Given the description of an element on the screen output the (x, y) to click on. 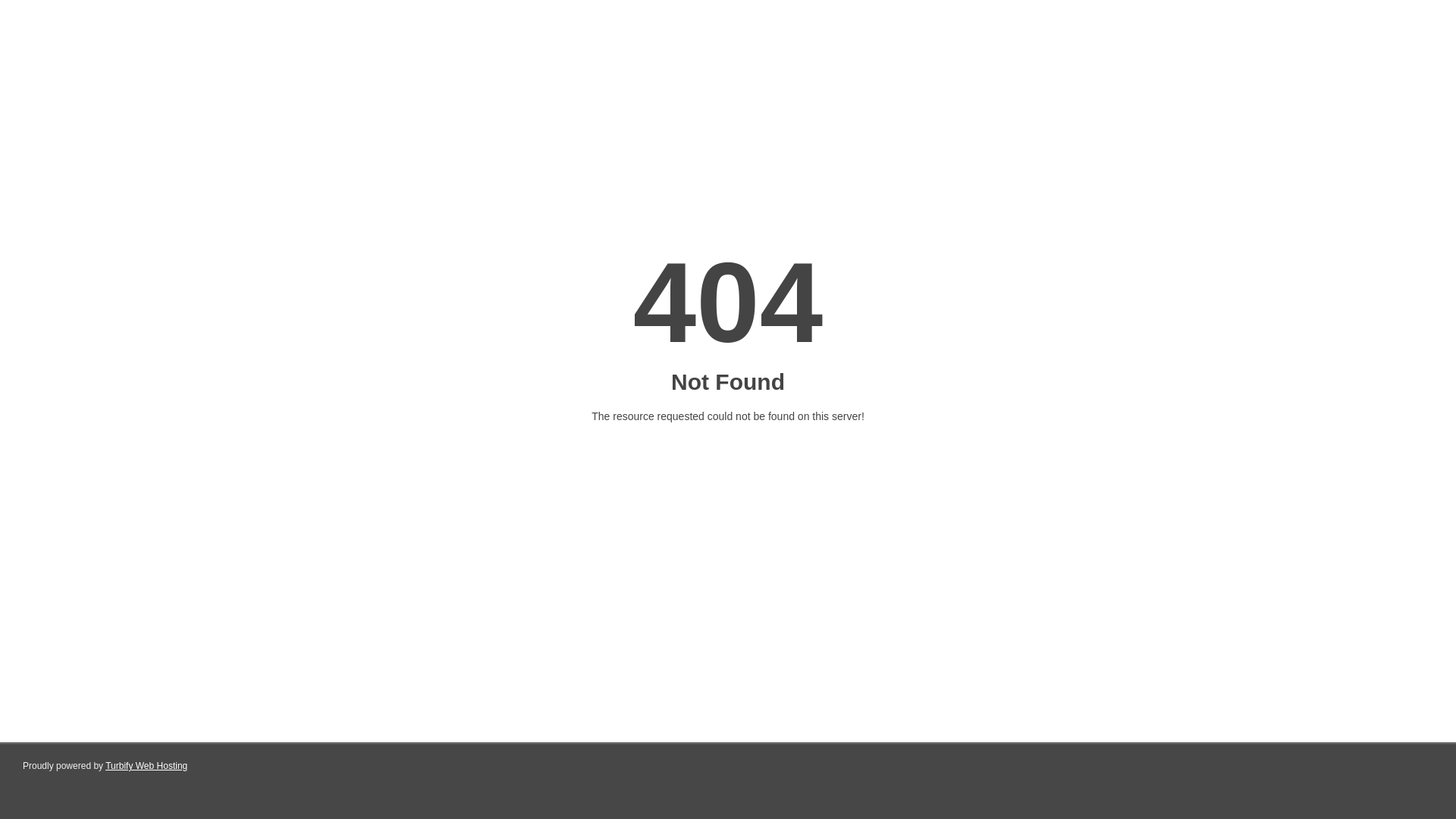
Turbify Web Hosting Element type: text (146, 765)
